Given the description of an element on the screen output the (x, y) to click on. 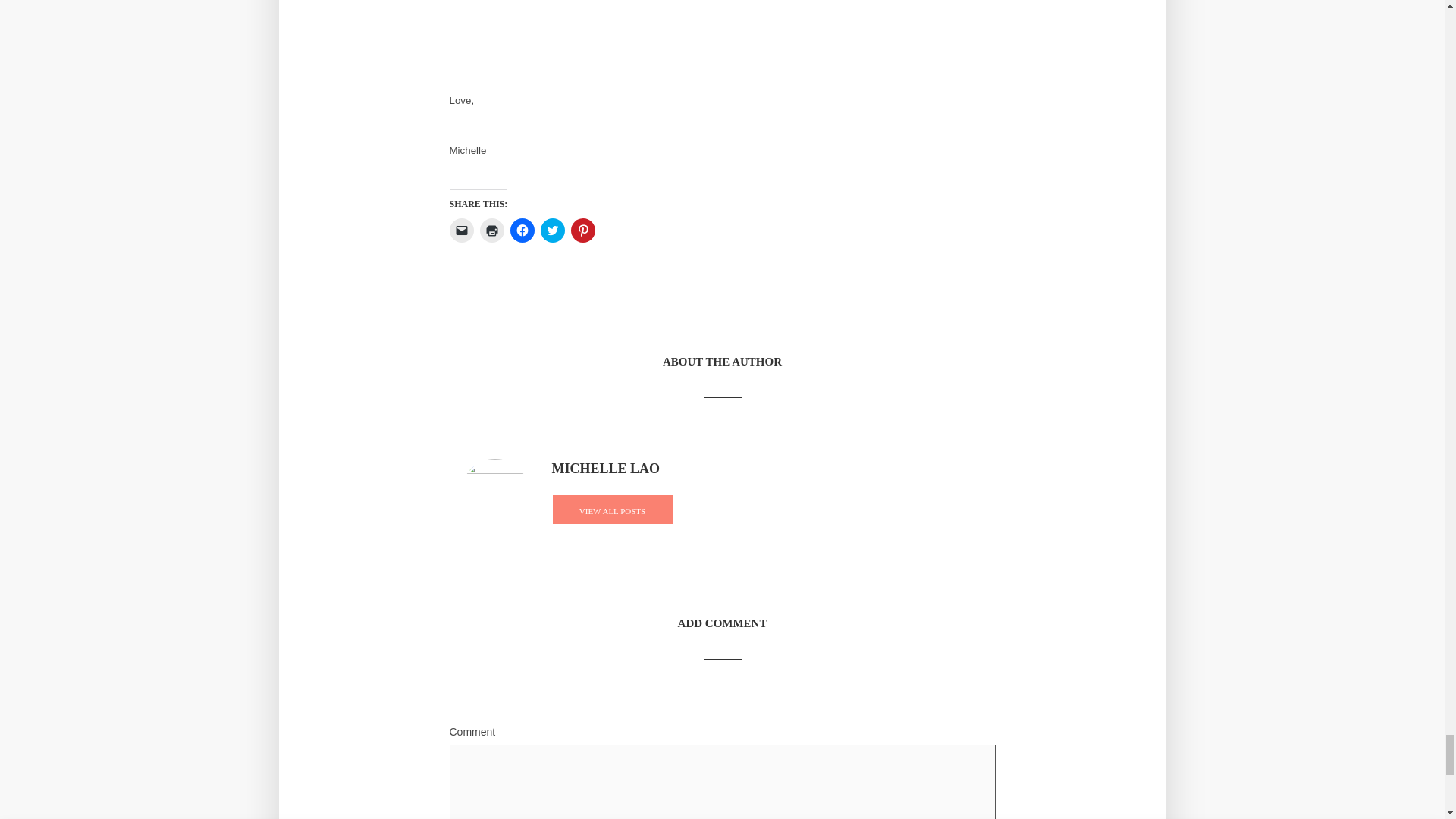
Click to share on Pinterest (582, 230)
Click to share on Twitter (552, 230)
Click to share on Facebook (521, 230)
Click to print (491, 230)
Click to email a link to a friend (460, 230)
VIEW ALL POSTS (611, 509)
